Given the description of an element on the screen output the (x, y) to click on. 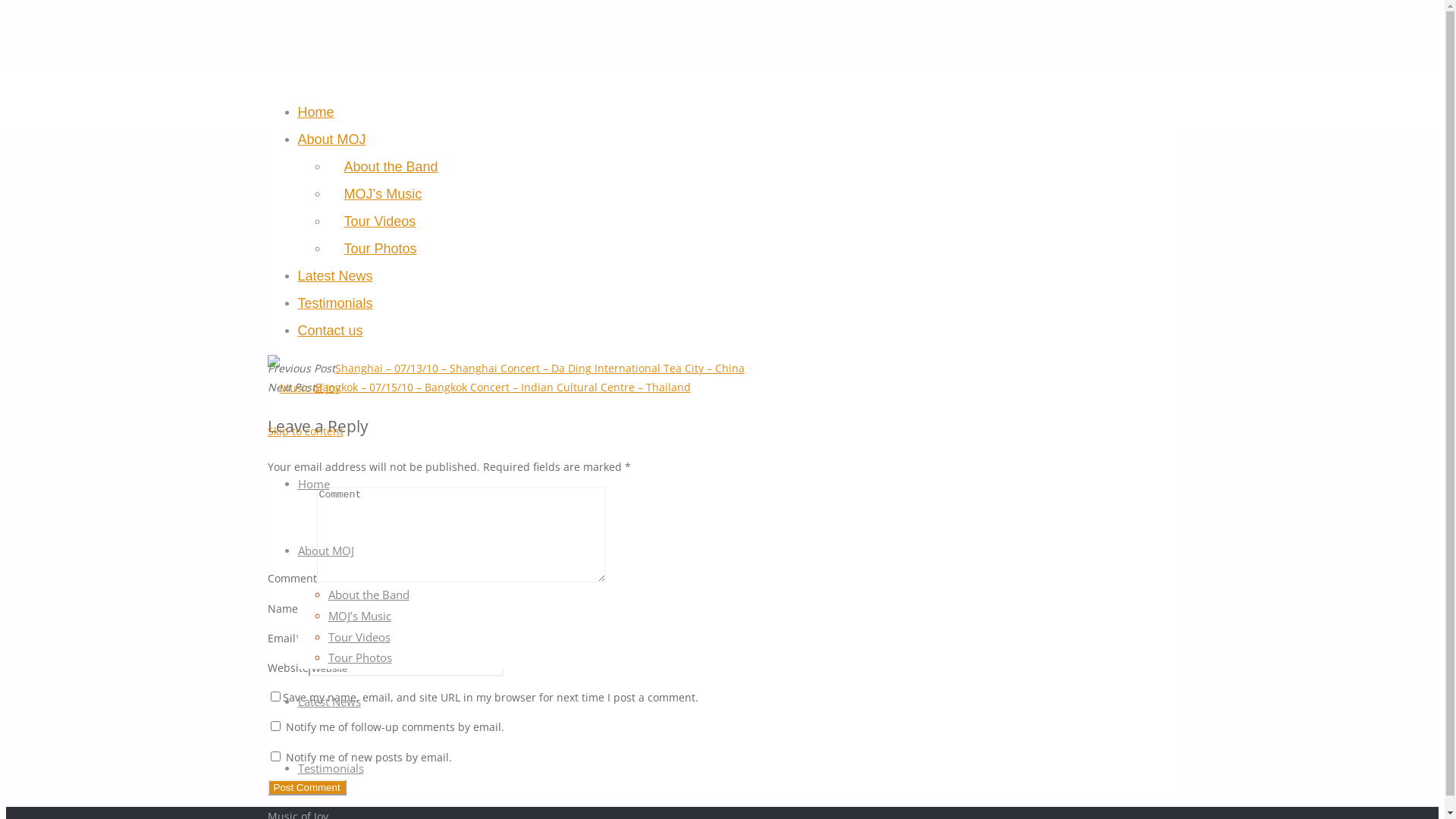
Home Element type: text (313, 484)
Latest News Element type: text (334, 276)
Music of Joy Element type: hover (302, 387)
About the Band Element type: text (391, 167)
Home Element type: text (315, 112)
Tour Photos Element type: text (359, 657)
Contact us Element type: text (329, 330)
About MOJ Element type: text (325, 550)
Post Comment Element type: text (305, 787)
Click to share on Facebook (Opens in new window) Element type: text (452, 272)
About MOJ Element type: text (331, 139)
Tour Videos Element type: text (380, 221)
Click to email a link to a friend (Opens in new window) Element type: text (462, 292)
Latest News Element type: text (328, 701)
Uncategorized Element type: text (453, 159)
Testimonials Element type: text (334, 303)
Testimonials Element type: text (330, 768)
Tour Photos Element type: text (380, 248)
About the Band Element type: text (367, 594)
Skip to content Element type: text (304, 430)
Click to share on Twitter (Opens in new window) Element type: text (446, 253)
Tour Videos Element type: text (358, 637)
